Given the description of an element on the screen output the (x, y) to click on. 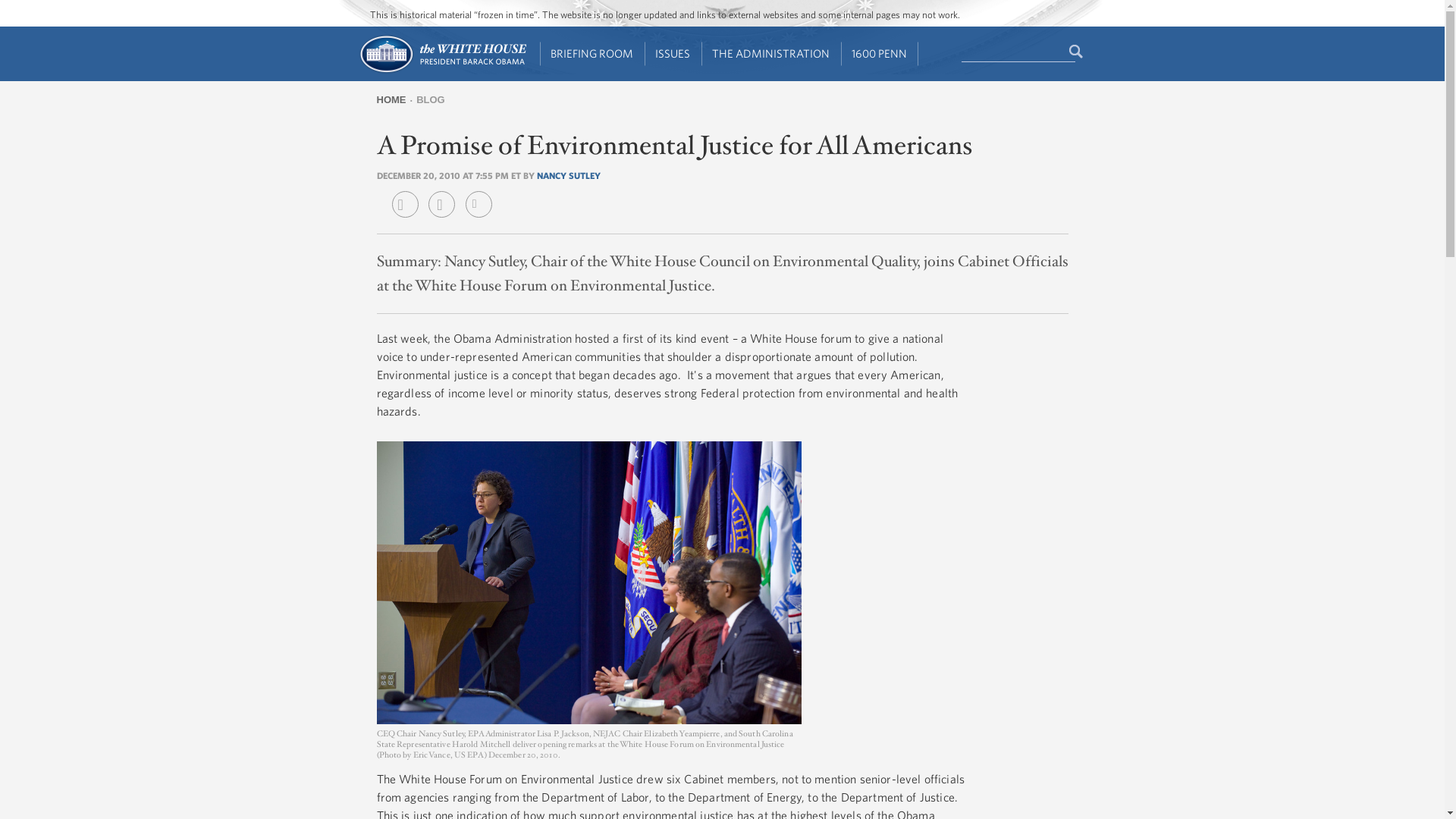
Chair Sutley Remarks at Environmental Justice Forum  (587, 582)
Enter the terms you wish to search for. (1017, 52)
ISSUES (673, 53)
BRIEFING ROOM (592, 53)
Home (441, 70)
Search (1076, 51)
